Given the description of an element on the screen output the (x, y) to click on. 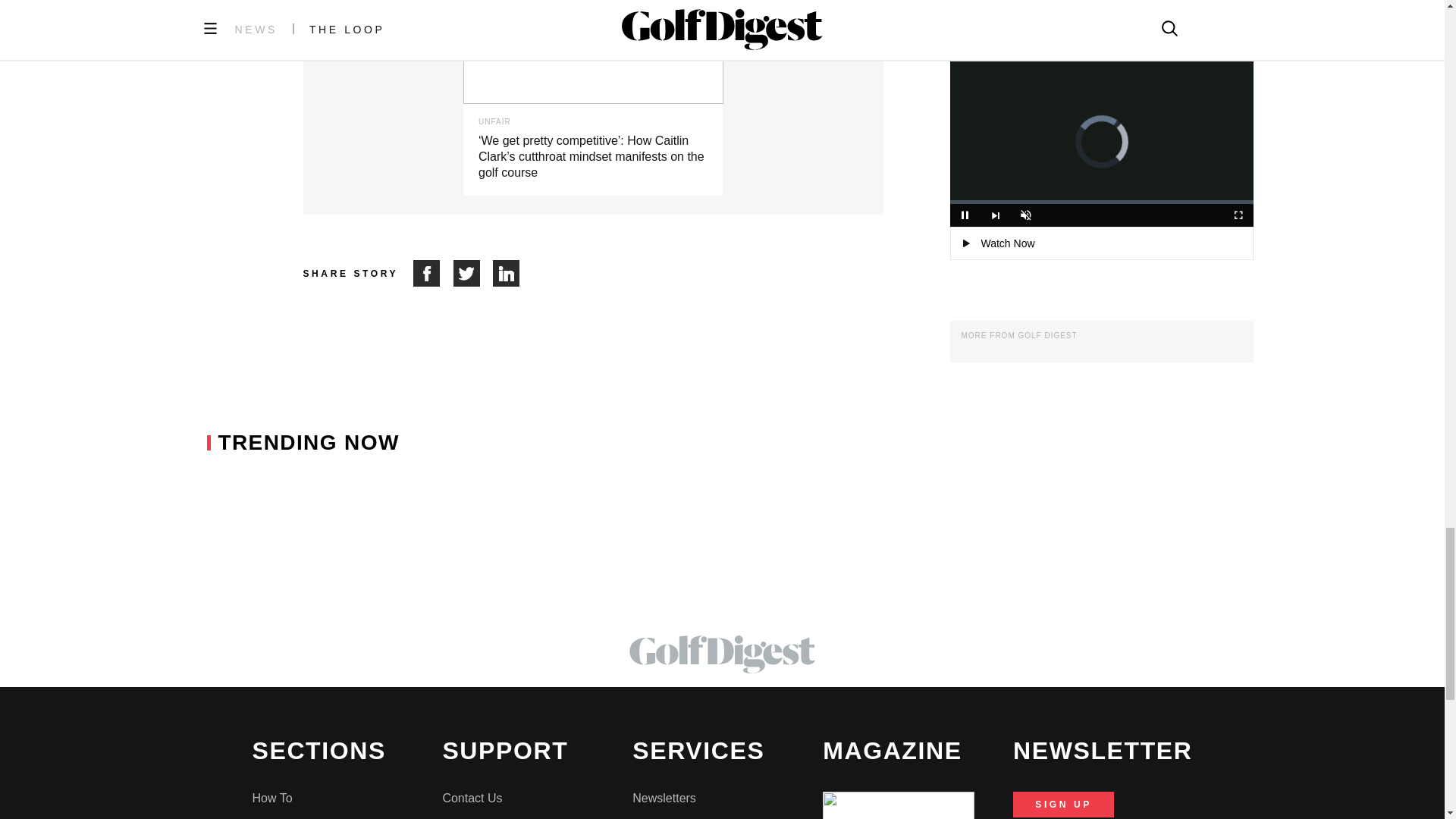
Share on Twitter (472, 273)
Share on Facebook (432, 273)
Share on LinkedIn (506, 273)
